Given the description of an element on the screen output the (x, y) to click on. 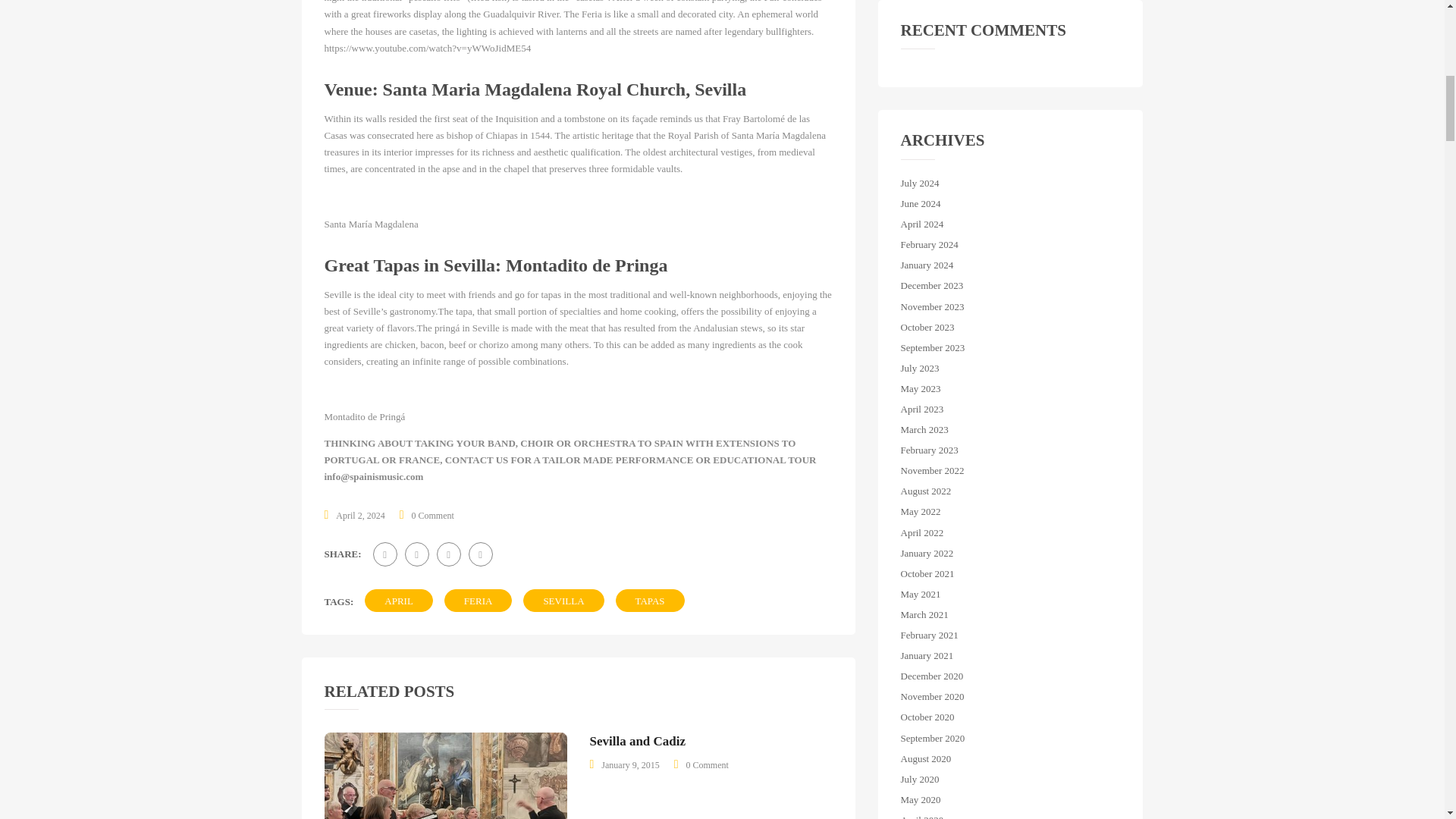
0 Comment (707, 765)
FERIA (478, 599)
Share toLinkedin (480, 554)
Share toFacebook (384, 554)
Sevilla and Cadiz (707, 765)
Share toTwitter (416, 554)
SEVILLA (563, 599)
APRIL (398, 599)
Choir Trips to Spain. Sevilla Cathedral. Historical Organs (445, 775)
0 Comment (433, 515)
Sevilla and Cadiz (637, 740)
TAPAS (649, 599)
Sevilla and Cadiz (637, 740)
